Given the description of an element on the screen output the (x, y) to click on. 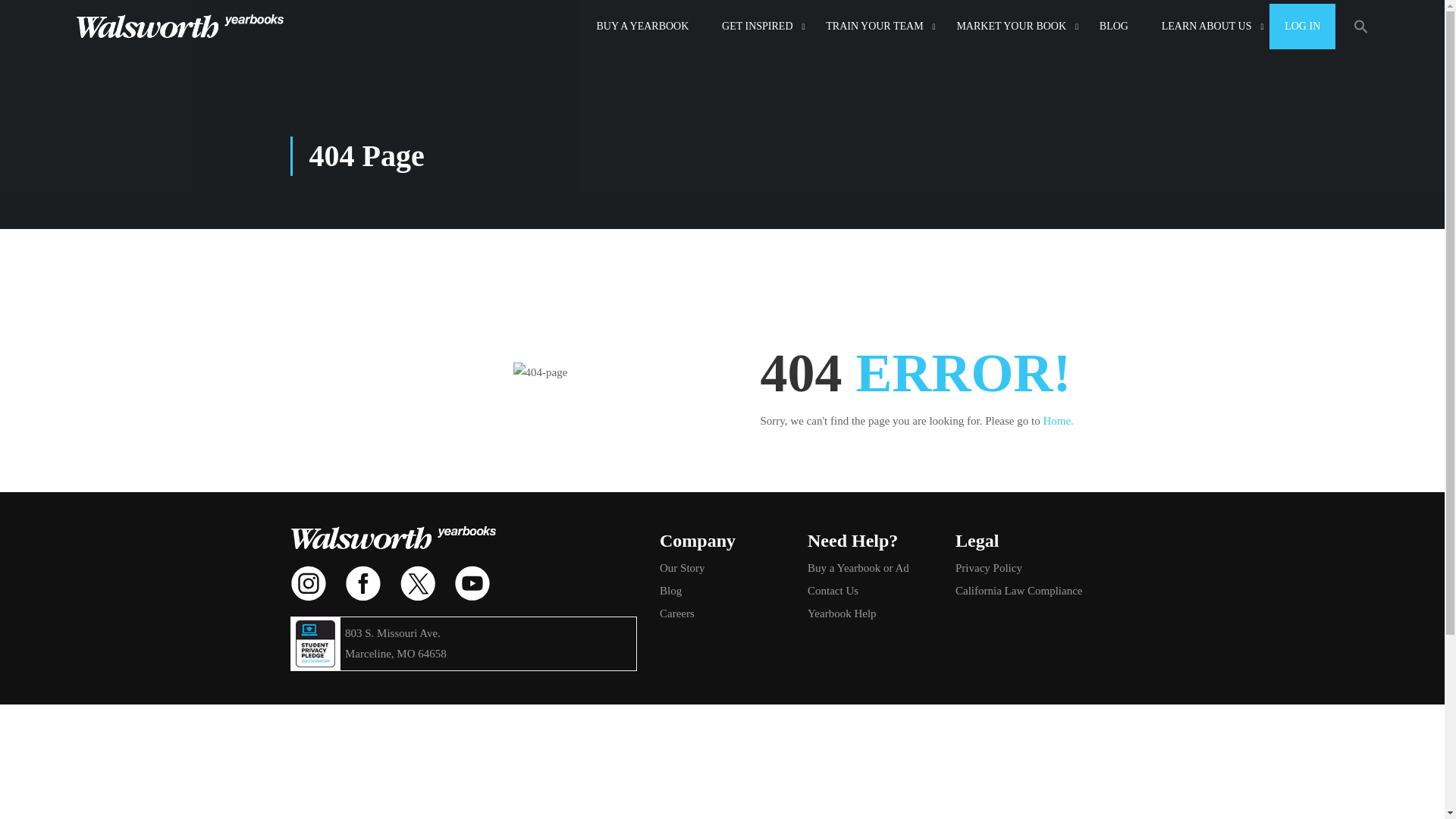
BUY A YEARBOOK (641, 26)
Walsworth Yearbooks - Publisher of School Yearbooks (179, 25)
GET INSPIRED (757, 26)
